Given the description of an element on the screen output the (x, y) to click on. 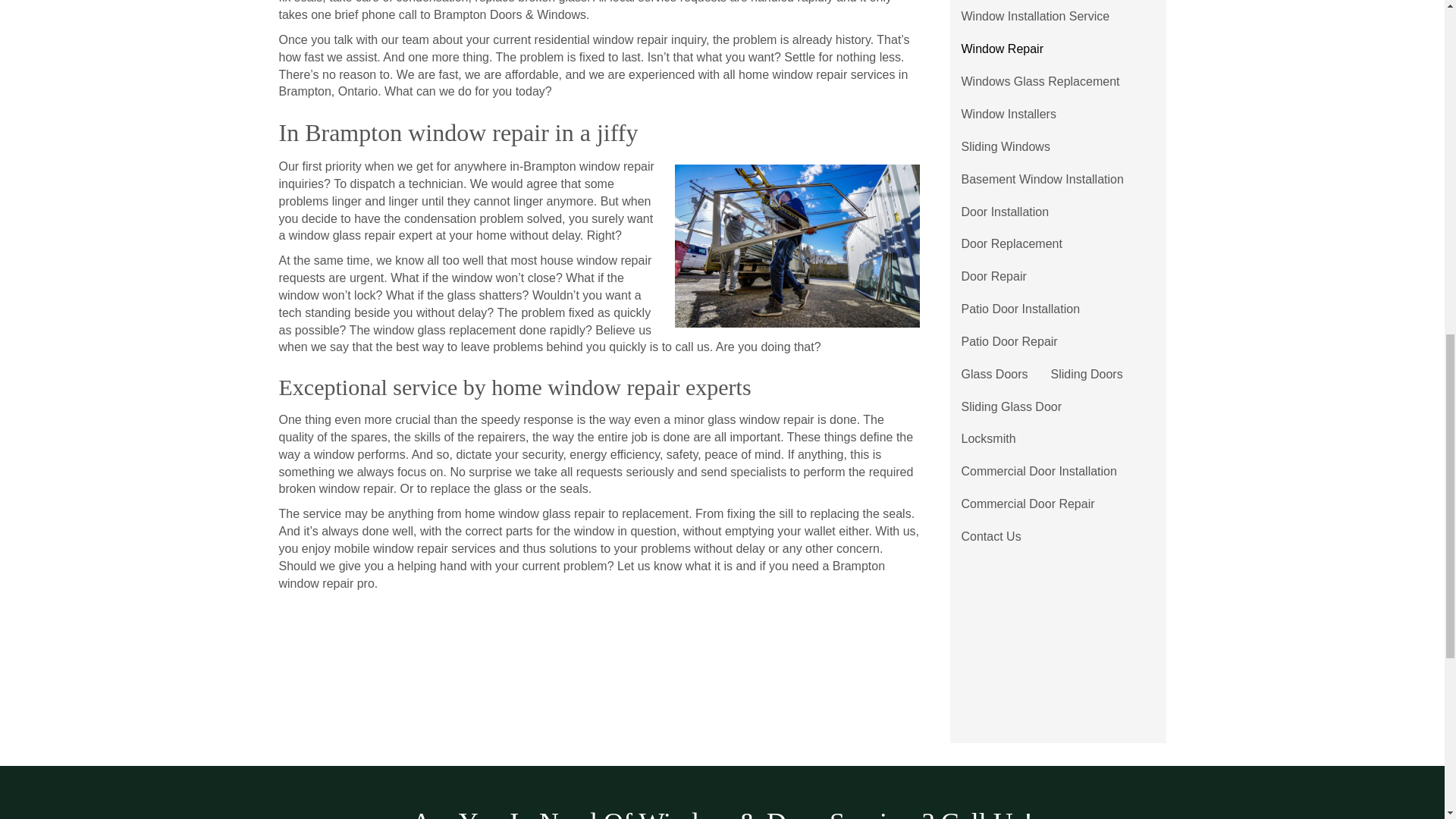
Window Installers (1008, 114)
Sliding Windows (1005, 147)
Window Installation Service (1035, 16)
Window Installation (1013, 0)
Window Repair (1001, 49)
Windows Glass Replacement (1040, 82)
